Given the description of an element on the screen output the (x, y) to click on. 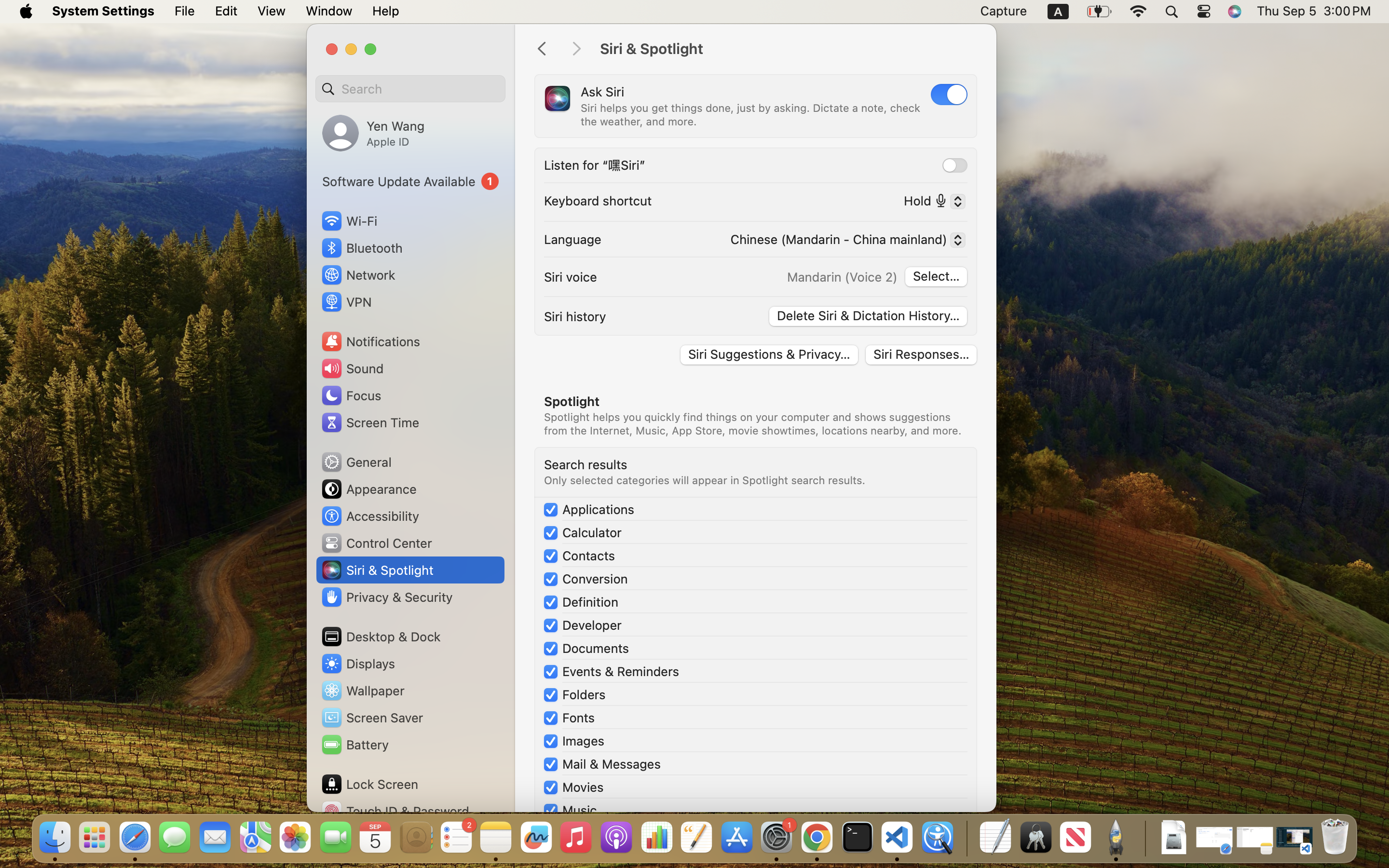
Wallpaper Element type: AXStaticText (362, 690)
Desktop & Dock Element type: AXStaticText (380, 636)
Hold 🎤︎ Element type: AXPopUpButton (930, 202)
Battery Element type: AXStaticText (354, 744)
Siri helps you get things done, just by asking. Dictate a note, check the weather, and more. Element type: AXStaticText (750, 114)
